Given the description of an element on the screen output the (x, y) to click on. 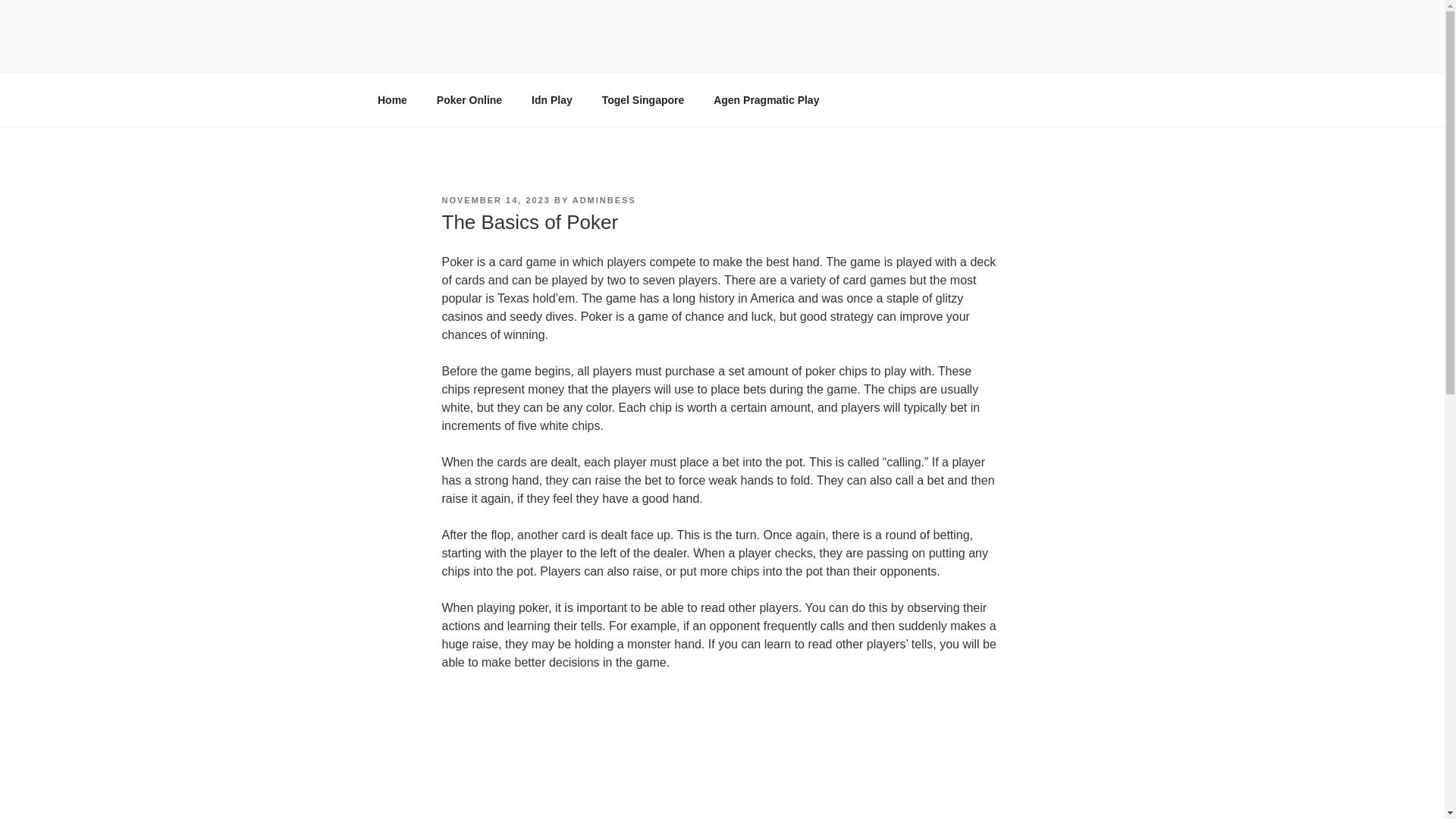
NOVEMBER 14, 2023 (495, 199)
ADMINBESS (604, 199)
Togel Singapore (642, 99)
Poker Online (469, 99)
Agen Pragmatic Play (766, 99)
Idn Play (552, 99)
Home (392, 99)
